Given the description of an element on the screen output the (x, y) to click on. 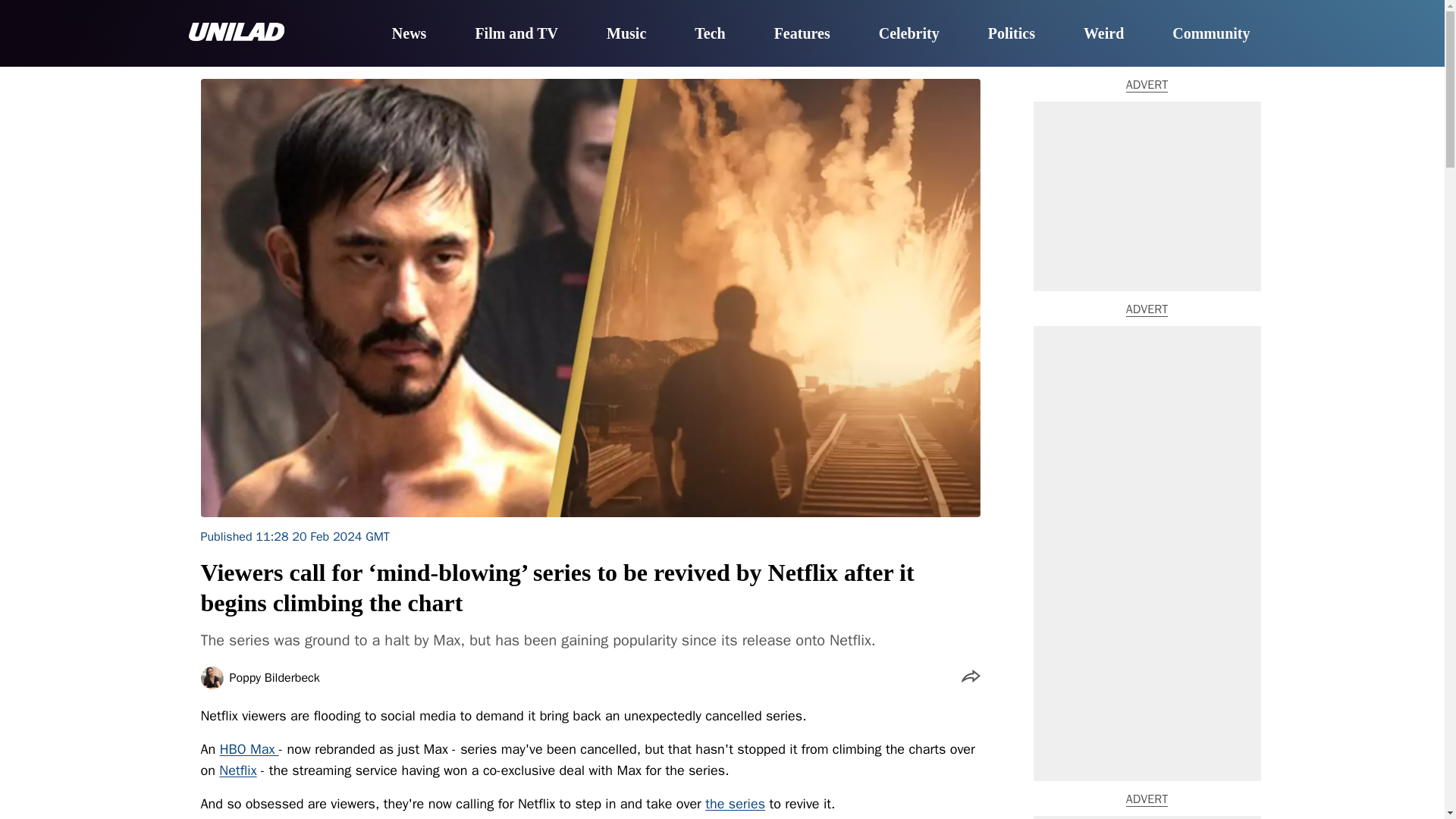
Netflix (237, 770)
Film and TV (515, 34)
Weird (1103, 34)
Politics (1011, 34)
HBO Max (249, 749)
News (408, 34)
Music (626, 34)
Tech (709, 34)
the series (734, 803)
Community (1210, 34)
